Given the description of an element on the screen output the (x, y) to click on. 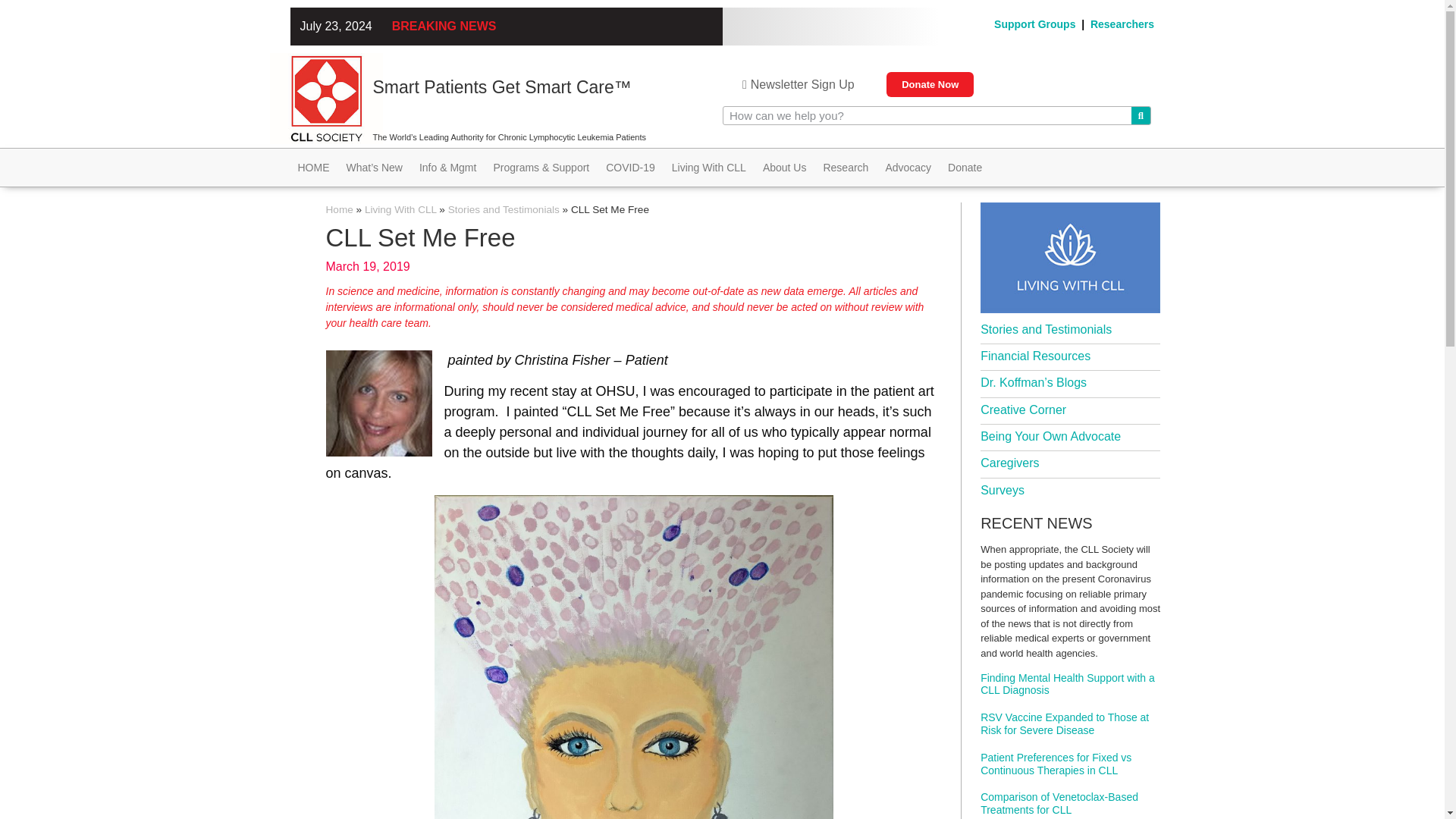
HOME (313, 167)
Donate Now (930, 84)
Researchers (1122, 24)
Support Groups (1034, 24)
Newsletter Sign Up (797, 84)
